Given the description of an element on the screen output the (x, y) to click on. 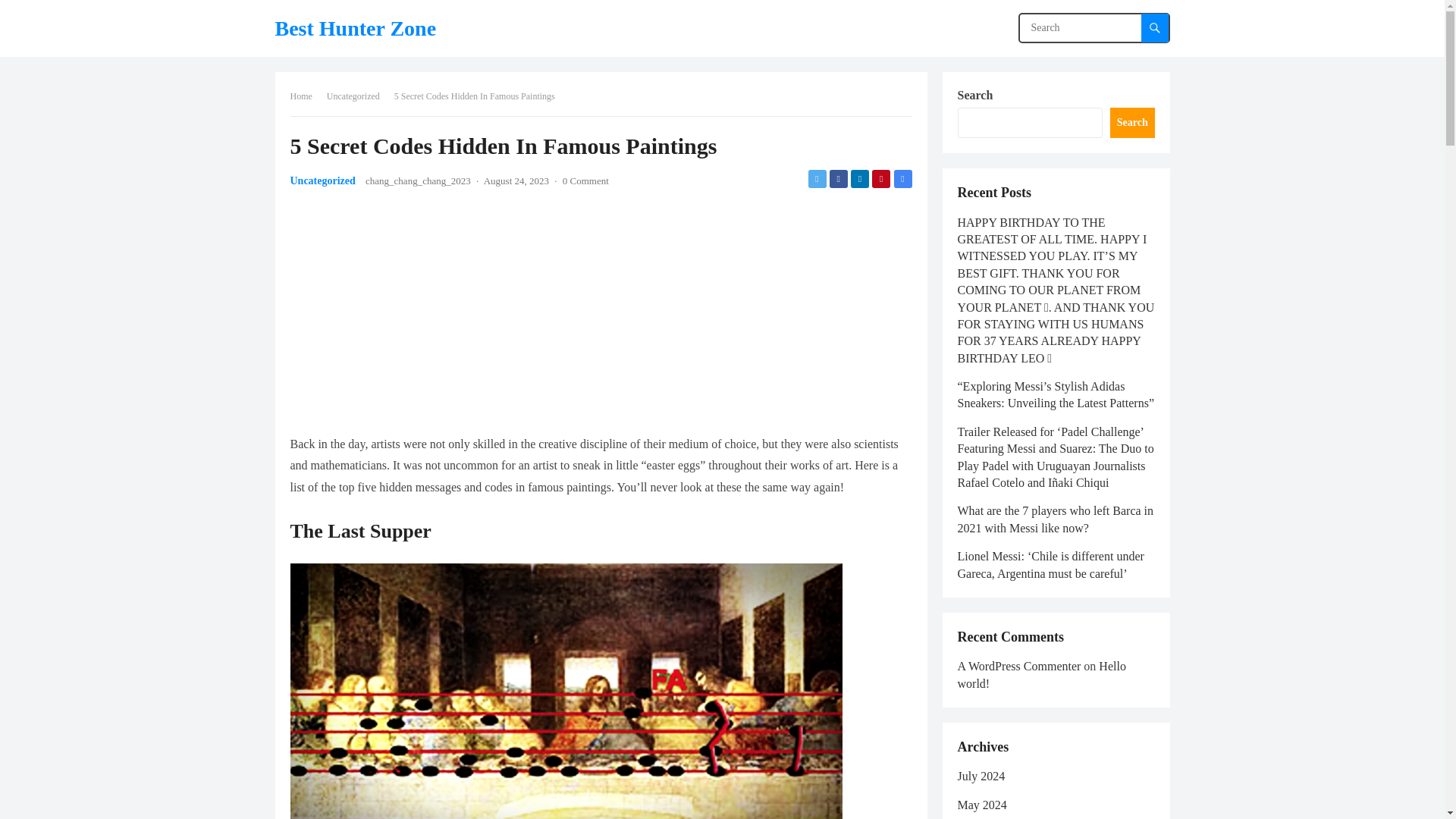
Uncategorized (358, 95)
Home (305, 95)
0 Comment (585, 180)
Best Hunter Zone (355, 28)
Uncategorized (322, 180)
